Given the description of an element on the screen output the (x, y) to click on. 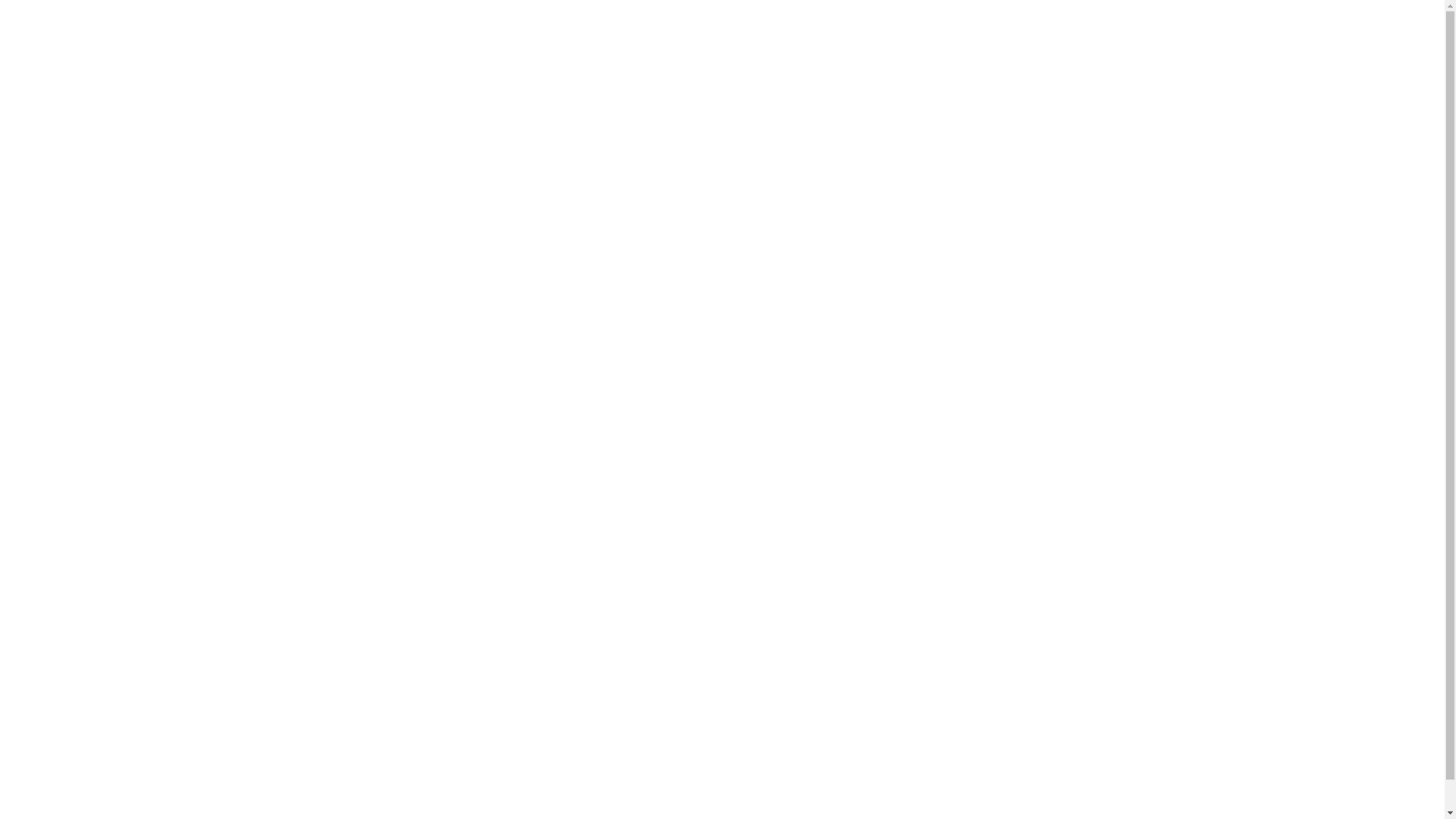
Contact Element type: text (1304, 66)
About Element type: text (781, 66)
Media Element type: text (1147, 66)
Home Element type: text (706, 66)
Products Element type: text (1059, 66)
Services Element type: text (867, 66)
Solutions Element type: text (963, 66)
Career Element type: text (1225, 66)
